Given the description of an element on the screen output the (x, y) to click on. 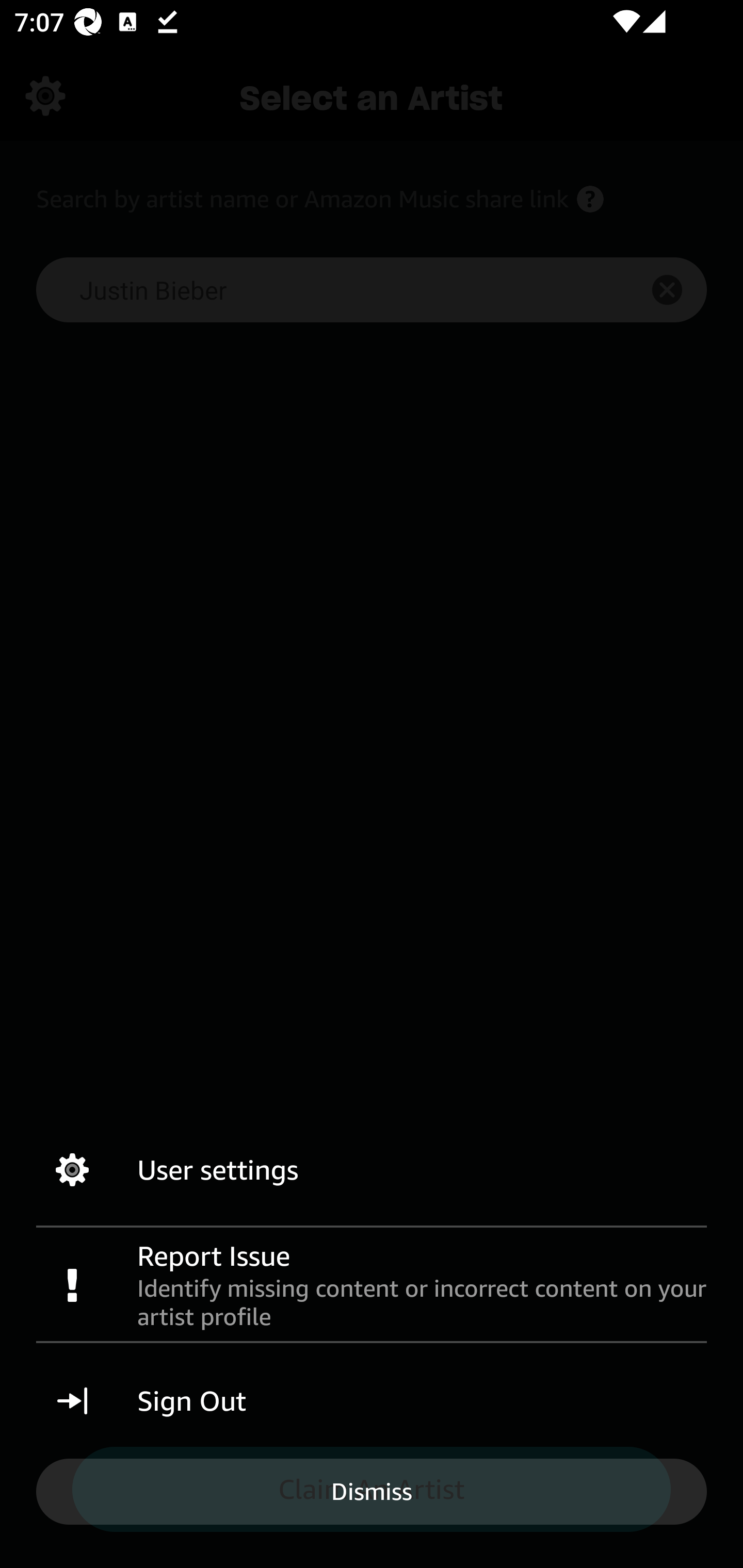
User settings  icon User settings User settings (371, 1169)
Sign Out  icon Sign Out Sign Out (371, 1400)
Dismiss button Dismiss (371, 1491)
